Given the description of an element on the screen output the (x, y) to click on. 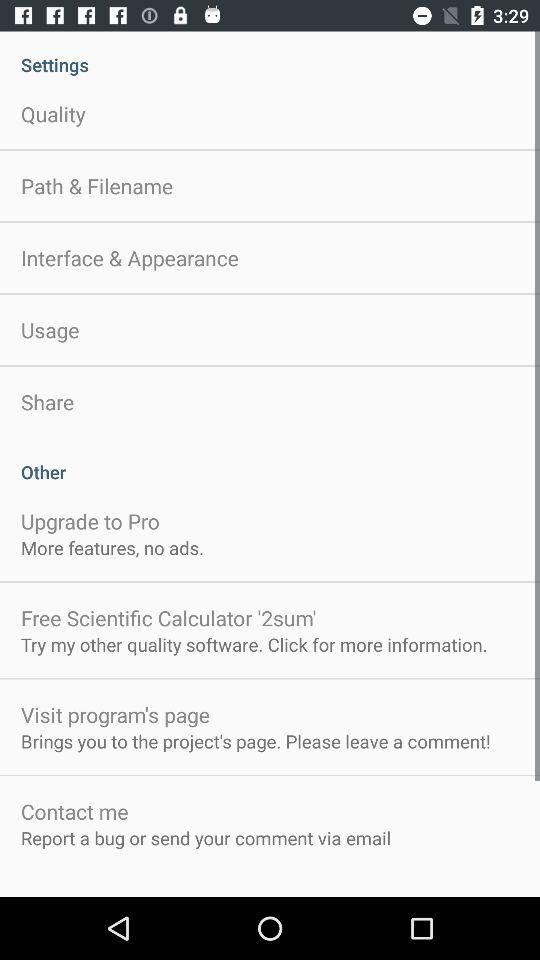
turn on the app below interface & appearance item (50, 329)
